Given the description of an element on the screen output the (x, y) to click on. 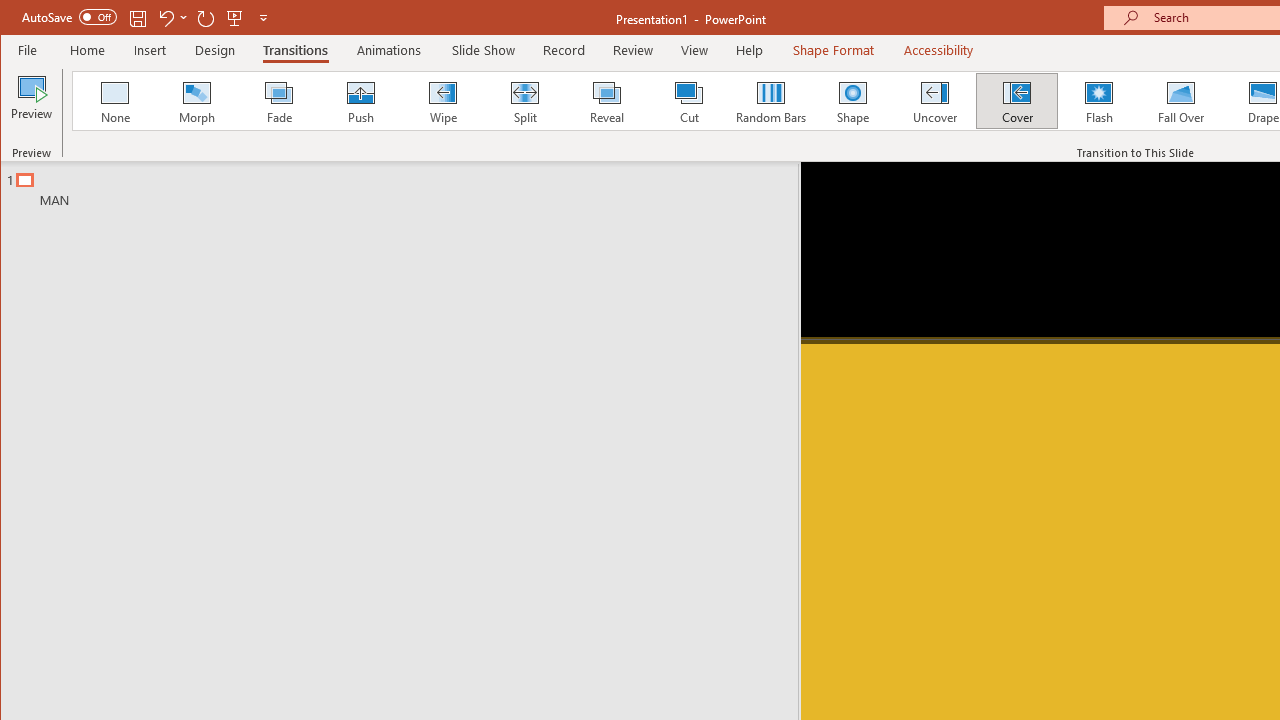
Fall Over (1181, 100)
Push (360, 100)
None (115, 100)
Split (524, 100)
Reveal (606, 100)
